Given the description of an element on the screen output the (x, y) to click on. 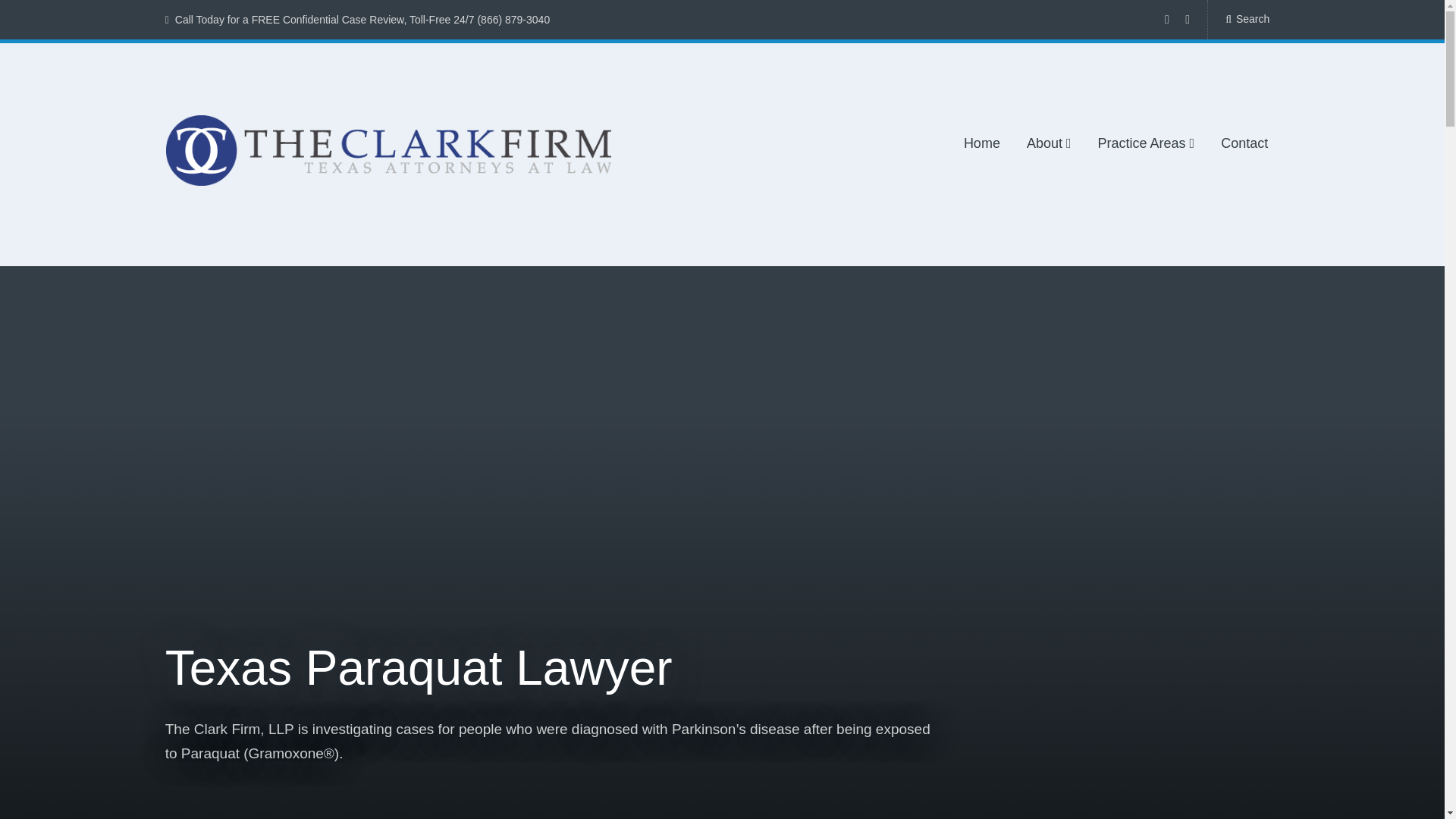
About (1048, 143)
Home (981, 143)
